Given the description of an element on the screen output the (x, y) to click on. 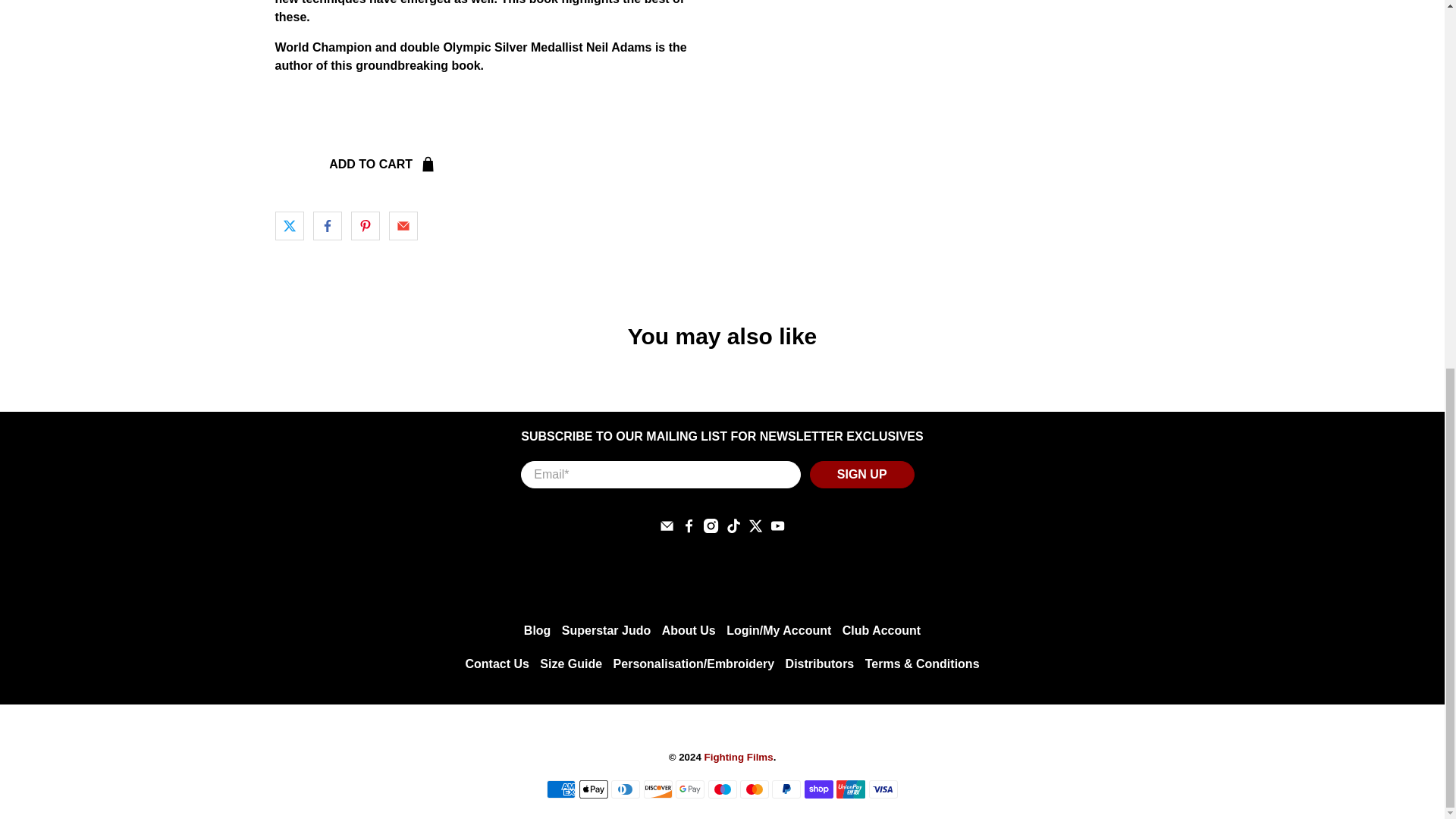
Share this on X (288, 225)
Email Fighting Films (666, 528)
Fighting Films on Facebook (688, 528)
Fighting Films on TikTok (733, 528)
Fighting Films on Instagram (710, 528)
Share this on Pinterest (364, 225)
Email this to a friend (402, 225)
Share this on Facebook (326, 225)
